Given the description of an element on the screen output the (x, y) to click on. 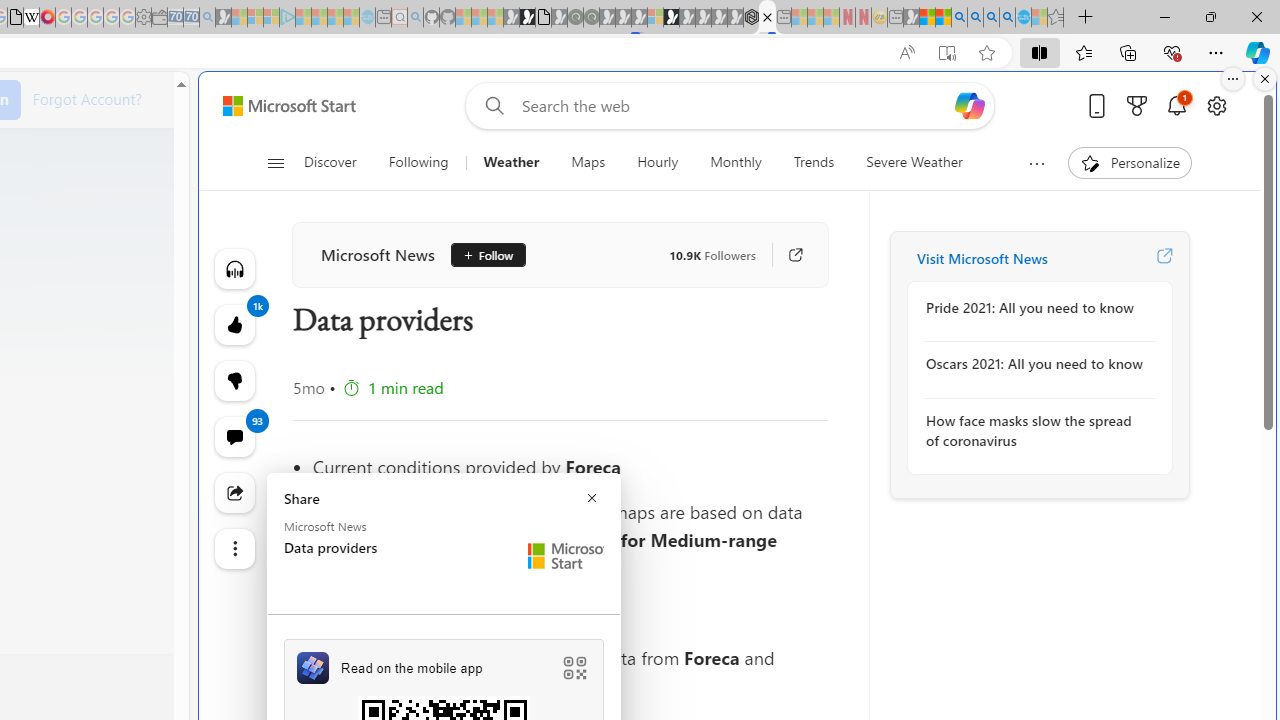
MSN - Sleeping (911, 17)
Severe Weather (914, 162)
Listen to this article (234, 268)
Data providers (767, 17)
How face masks slow the spread of coronavirus (1034, 429)
